Given the description of an element on the screen output the (x, y) to click on. 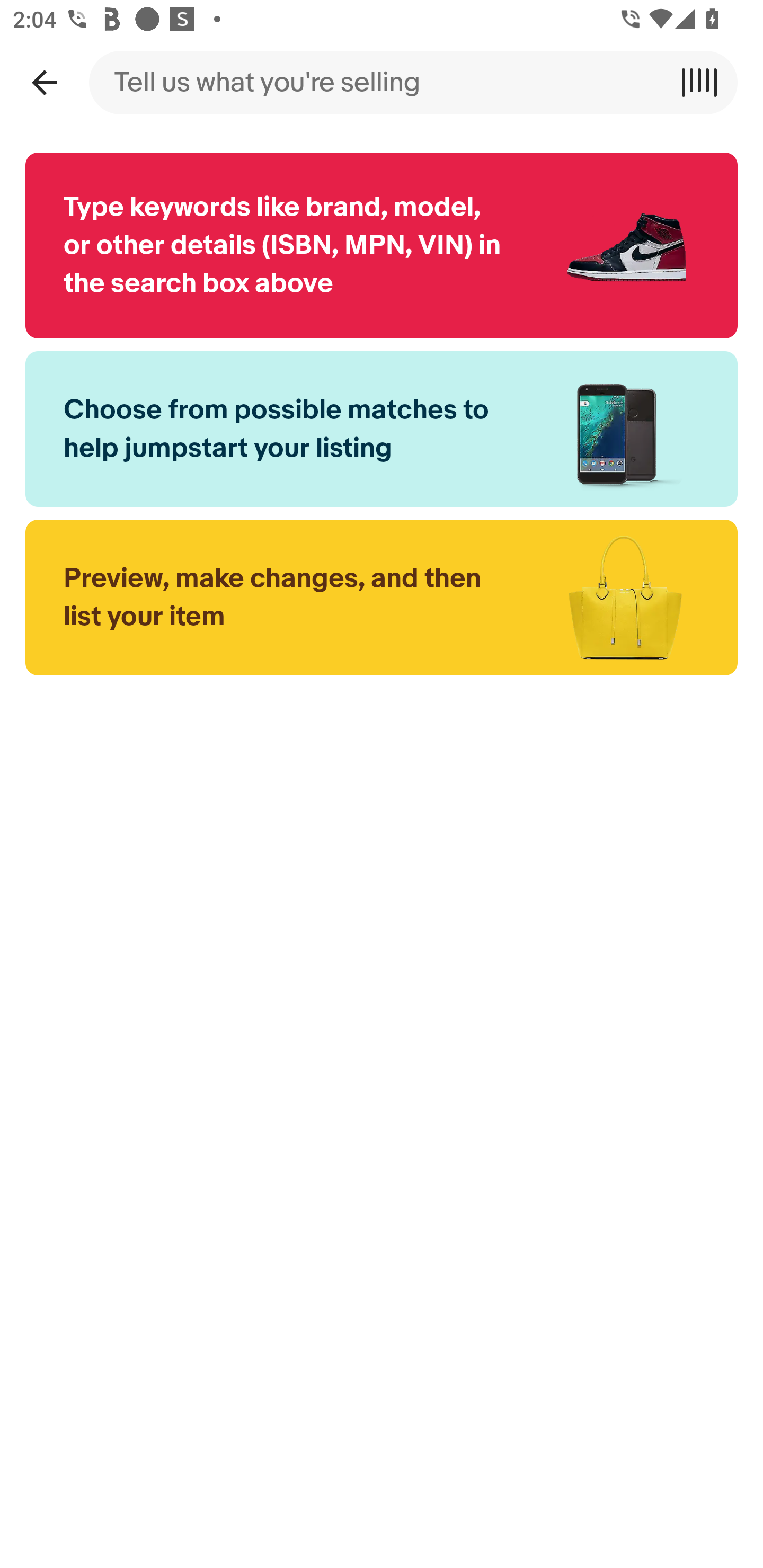
Navigate up (44, 82)
Scan a barcode (705, 82)
Tell us what you're selling (381, 82)
